Given the description of an element on the screen output the (x, y) to click on. 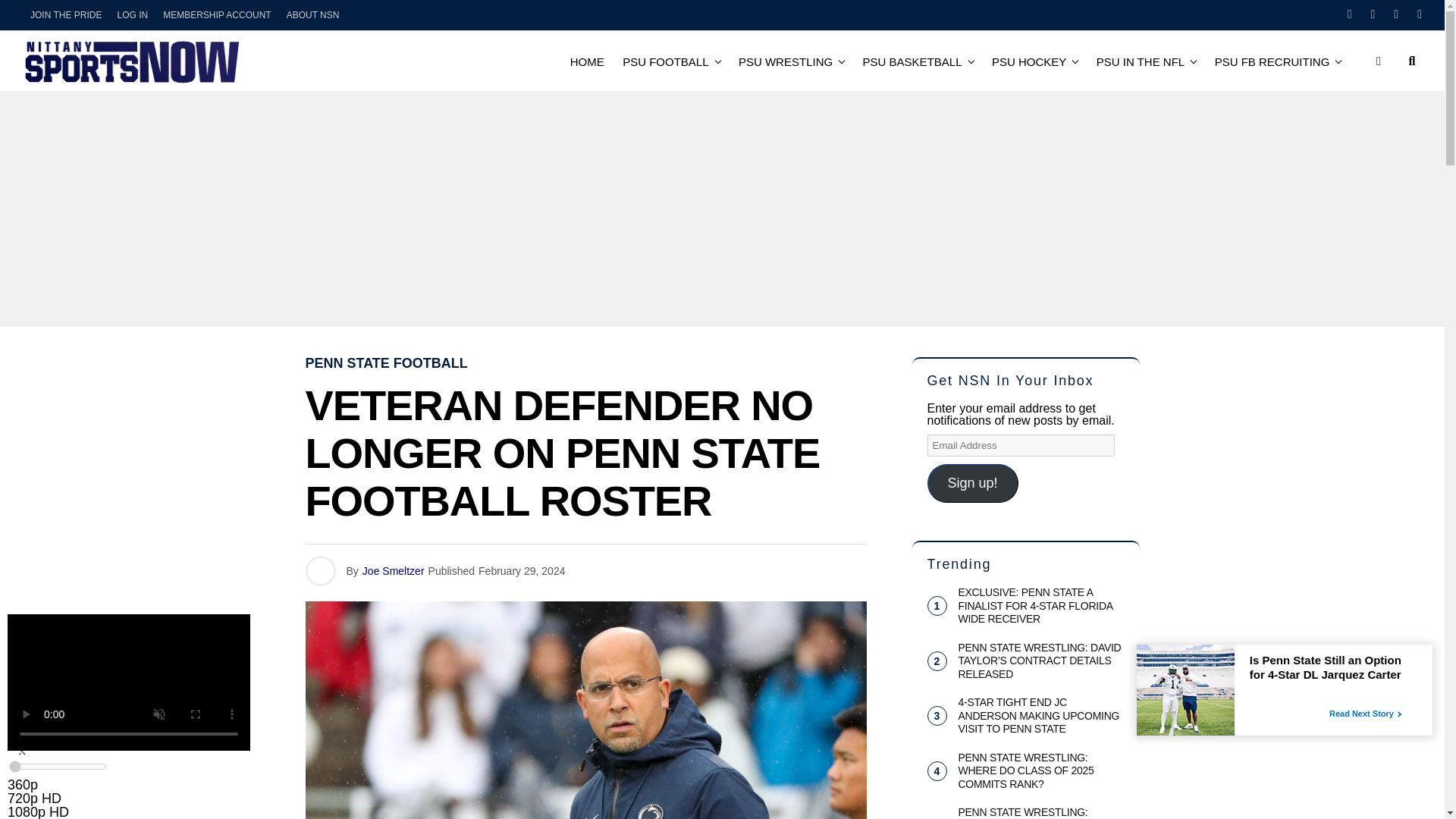
Posts by Joe Smeltzer (393, 571)
LOG IN (132, 15)
PSU FOOTBALL (665, 61)
MEMBERSHIP ACCOUNT (216, 15)
PSU WRESTLING (785, 61)
JOIN THE PRIDE (66, 15)
ABOUT NSN (313, 15)
